Given the description of an element on the screen output the (x, y) to click on. 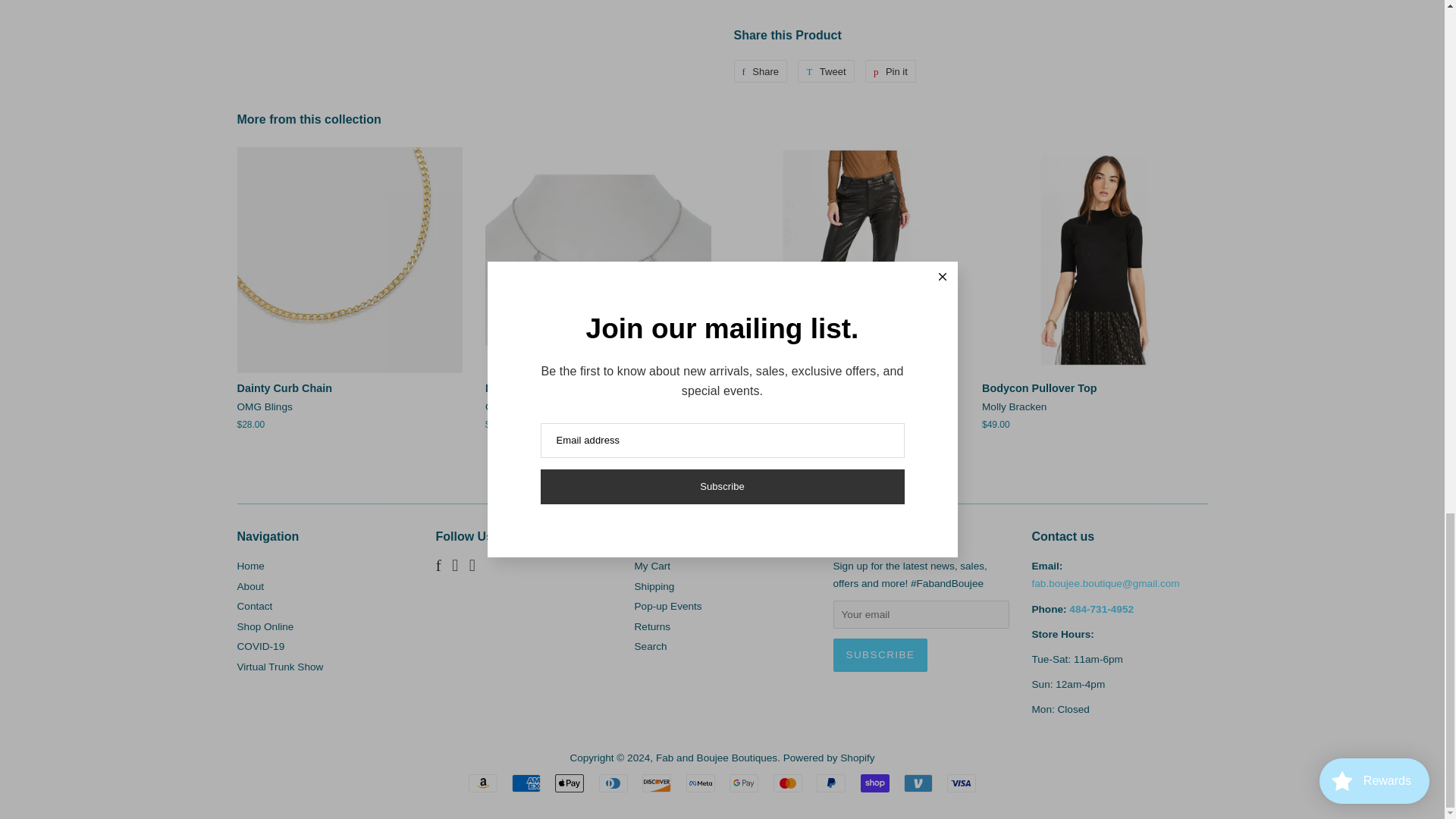
Shop Pay (874, 782)
Discover (656, 782)
Google Pay (743, 782)
Venmo (918, 782)
American Express (526, 782)
Visa (961, 782)
Subscribe (879, 654)
Tweet on Twitter (825, 70)
PayPal (830, 782)
Meta Pay (699, 782)
Contact (1104, 583)
tel:4847314952 (1101, 608)
Apple Pay (568, 782)
Pin on Pinterest (889, 70)
Amazon (482, 782)
